Given the description of an element on the screen output the (x, y) to click on. 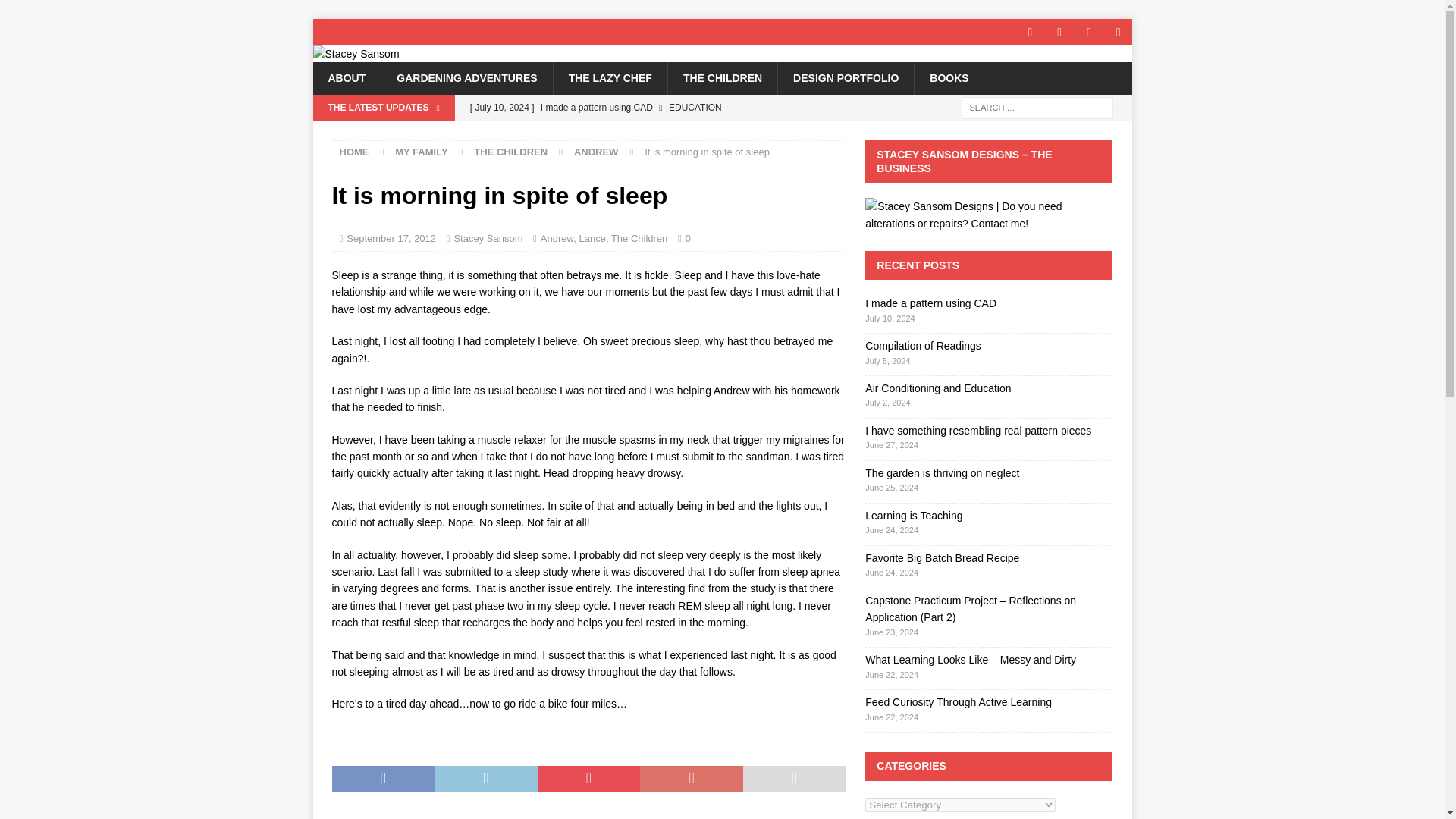
HOME (354, 152)
Stacey Sansom (355, 53)
Search (56, 11)
THE LAZY CHEF (609, 78)
Andrew (556, 238)
THE CHILDREN (721, 78)
GARDENING ADVENTURES (465, 78)
September 17, 2012 (390, 238)
MY FAMILY (420, 152)
The Children (638, 238)
I made a pattern using CAD (653, 107)
I made a pattern using CAD (929, 303)
Stacey Sansom (487, 238)
Compilation of Readings (653, 133)
ABOUT (346, 78)
